Given the description of an element on the screen output the (x, y) to click on. 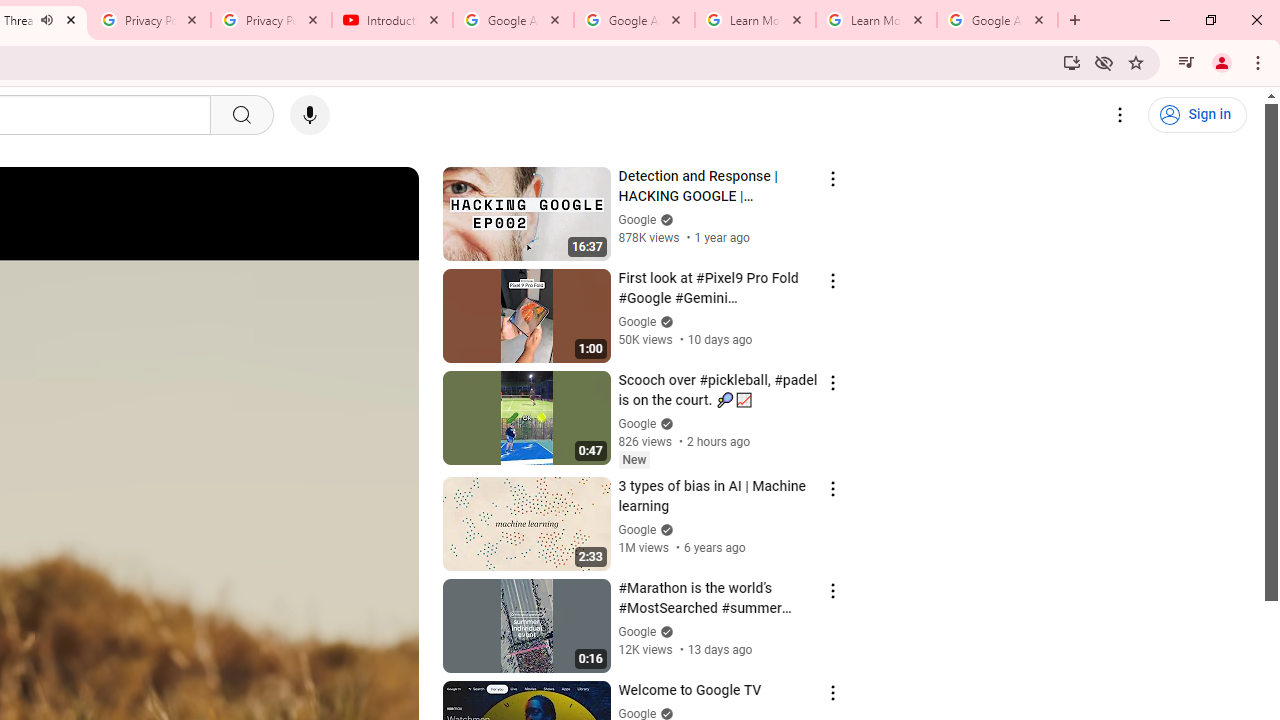
Install YouTube (1071, 62)
Verified (664, 631)
Search with your voice (309, 115)
